Given the description of an element on the screen output the (x, y) to click on. 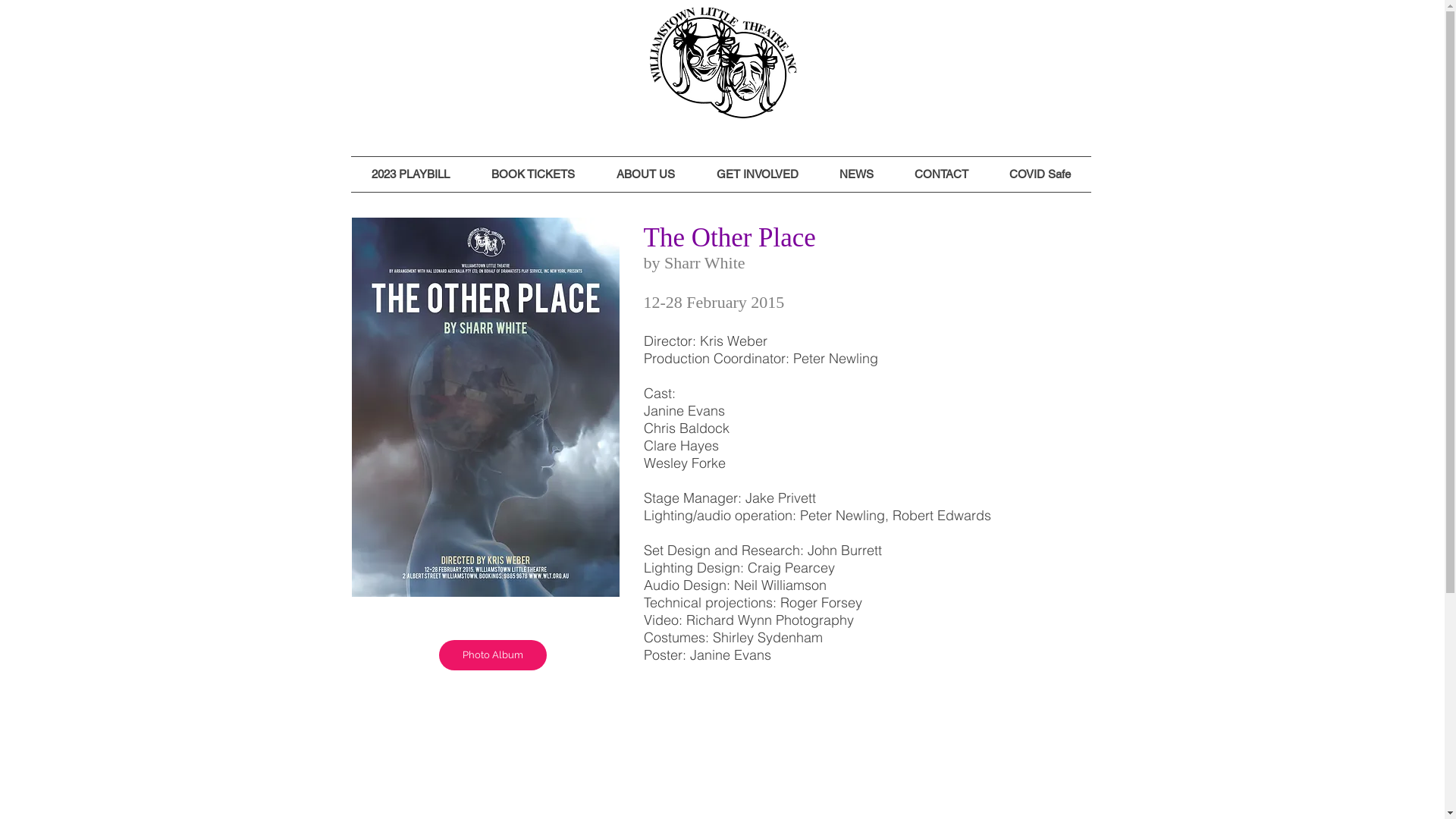
CONTACT Element type: text (940, 173)
Photo Album Element type: text (492, 655)
ABOUT US Element type: text (646, 173)
NEWS Element type: text (856, 173)
COVID Safe Element type: text (1039, 173)
BOOK TICKETS Element type: text (532, 173)
WLT_logo_K_2016 copy.jpg Element type: hover (723, 63)
